Given the description of an element on the screen output the (x, y) to click on. 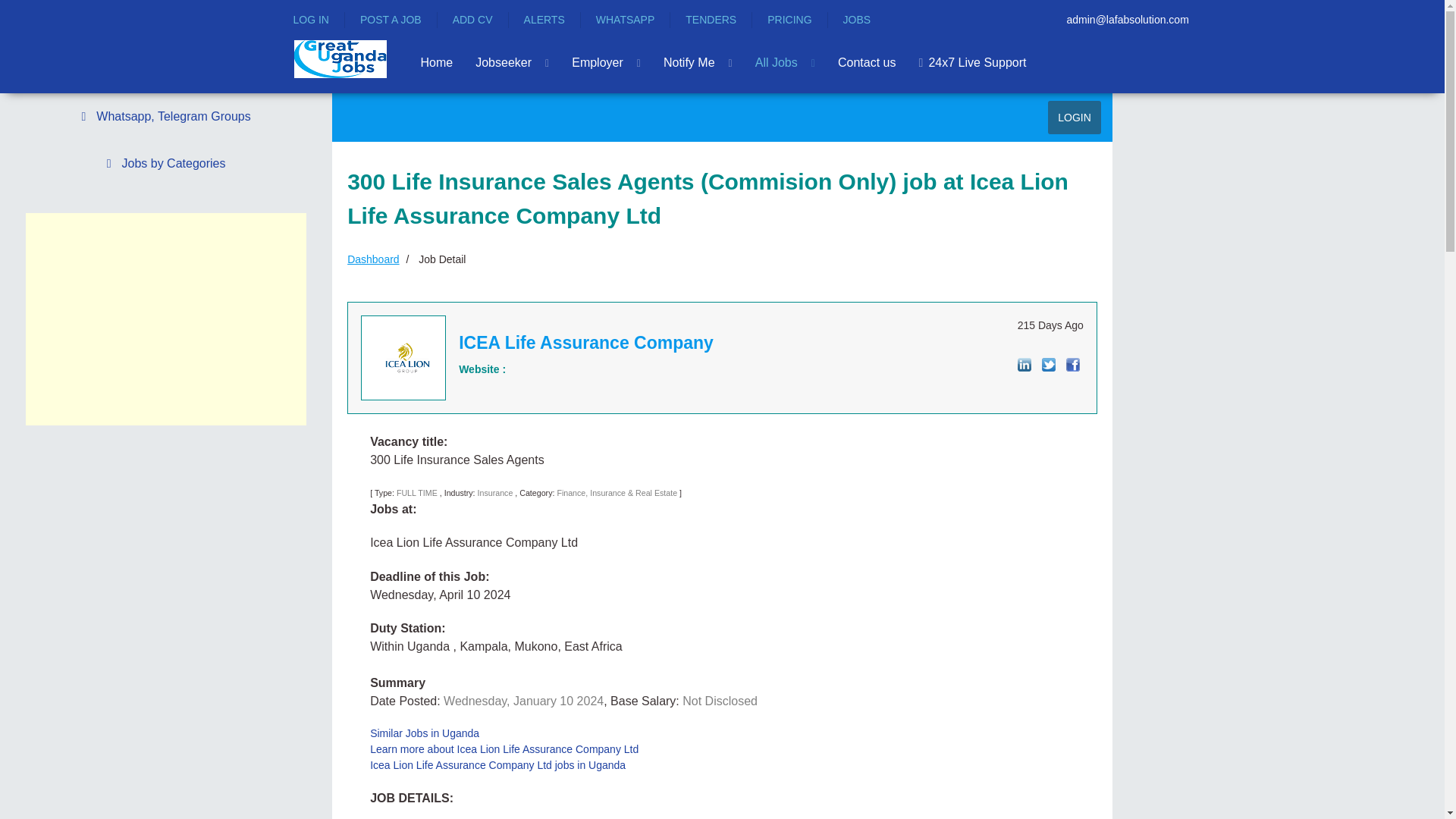
Advertisement (165, 318)
LOG IN (310, 19)
JOBS (856, 19)
TENDERS (710, 19)
ADD CV (472, 19)
Employer (606, 62)
PRICING (788, 19)
WHATSAPP (625, 19)
POST A JOB (390, 19)
Dashboard (372, 259)
